Given the description of an element on the screen output the (x, y) to click on. 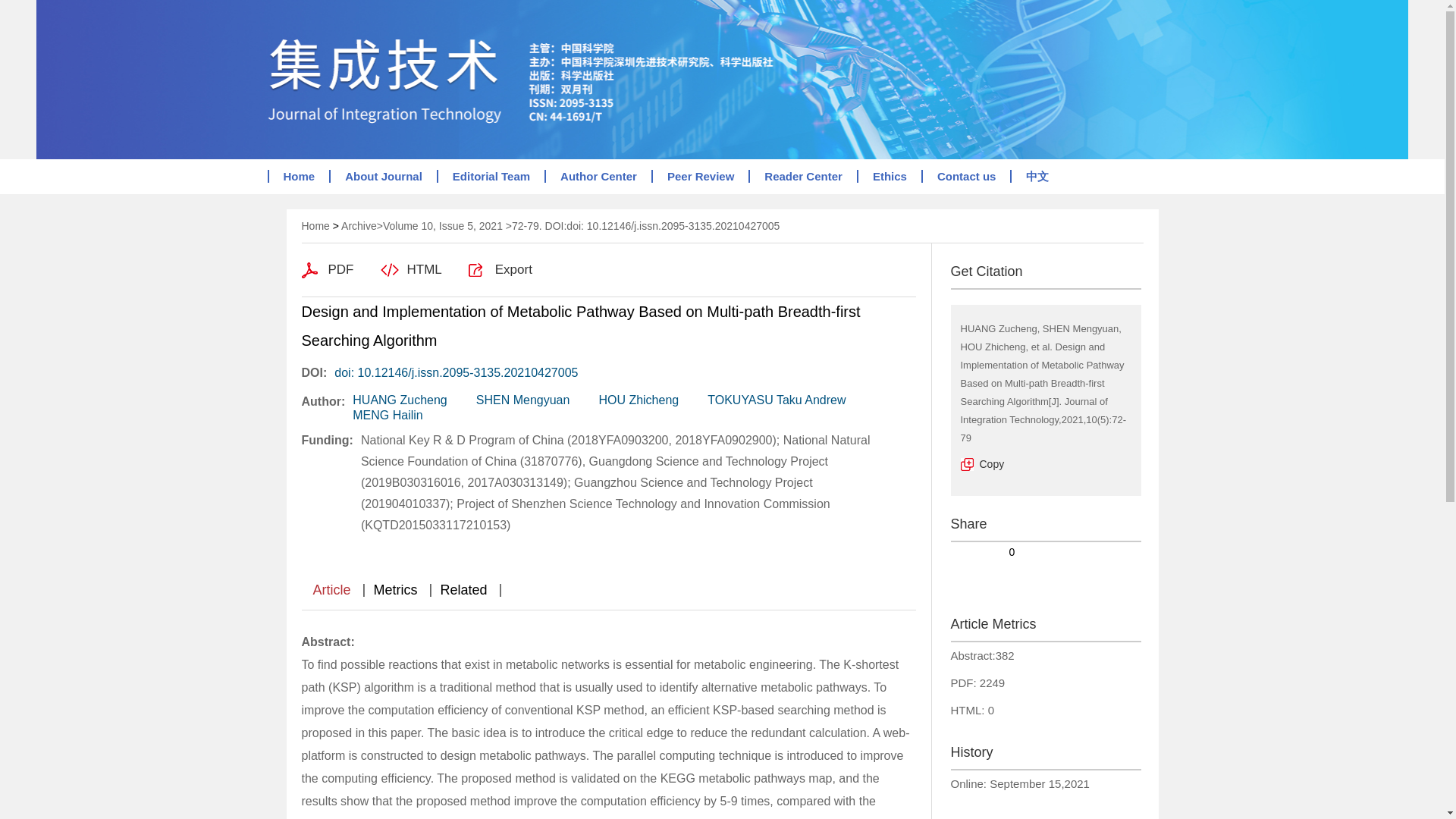
Volume 10, Issue 5, 2021 (442, 225)
Reader Center (802, 175)
Home (297, 175)
Home (315, 225)
Author Center (597, 175)
HTML (411, 270)
Contact us (965, 175)
PDF (327, 270)
Ethics (889, 175)
About Journal (382, 175)
Editorial Team (490, 175)
Peer Review (699, 175)
Archive (358, 225)
